Given the description of an element on the screen output the (x, y) to click on. 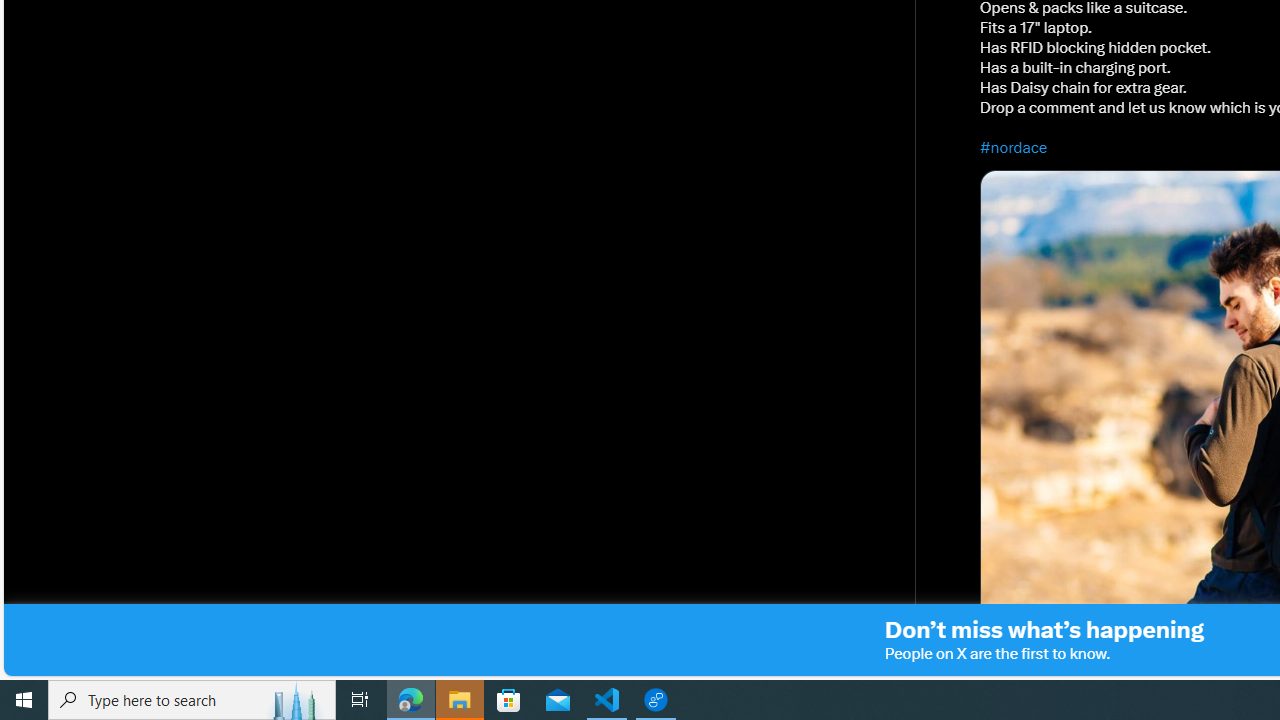
#nordace (1014, 147)
